Given the description of an element on the screen output the (x, y) to click on. 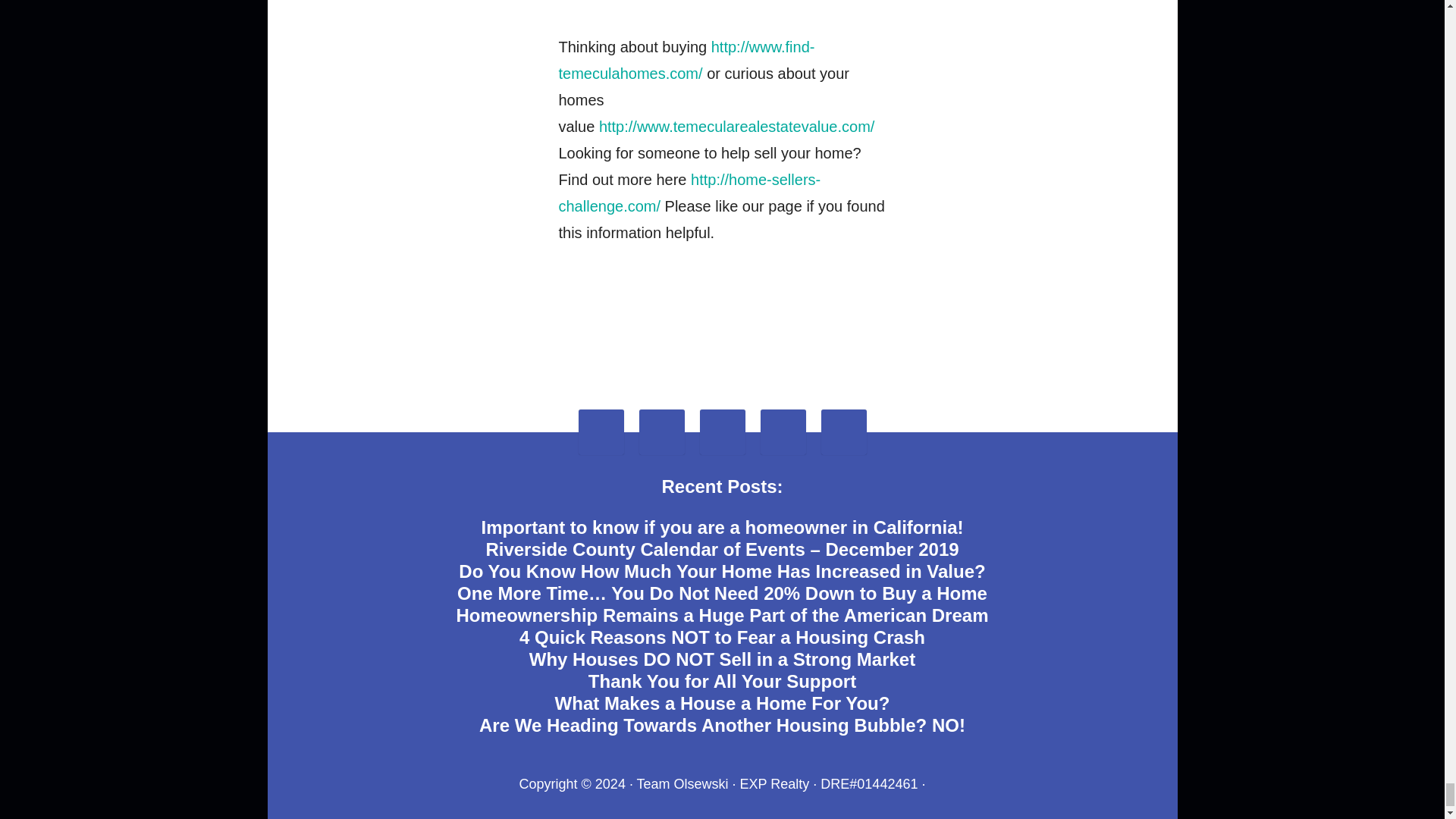
YouTube (844, 431)
Facebook (661, 431)
Email (600, 431)
Twitter (782, 431)
LinkedIn (722, 431)
